Given the description of an element on the screen output the (x, y) to click on. 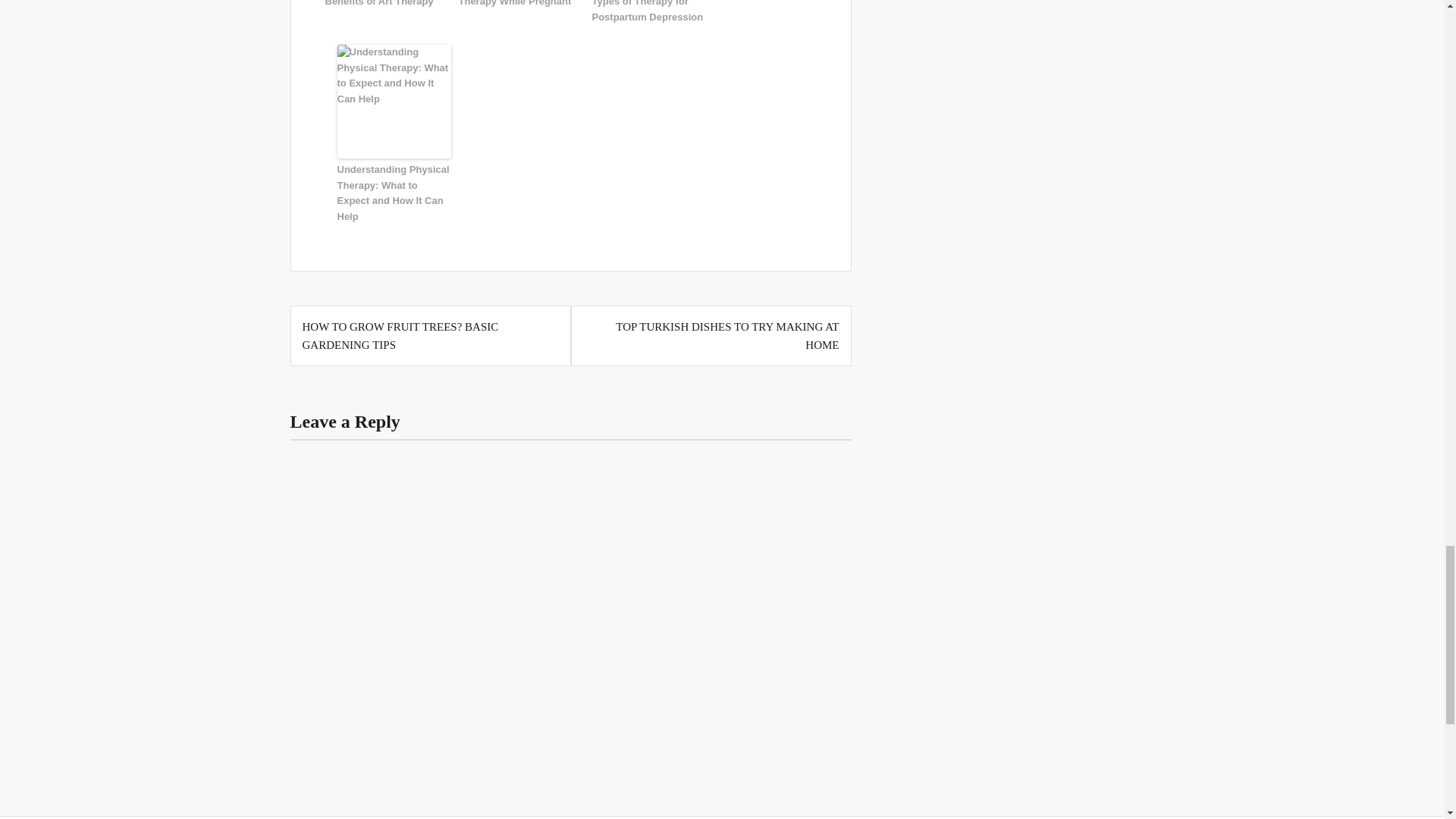
The Mental Health Benefits of Art Therapy (381, 4)
5 Benefits of Going to Therapy While Pregnant (515, 4)
